Given the description of an element on the screen output the (x, y) to click on. 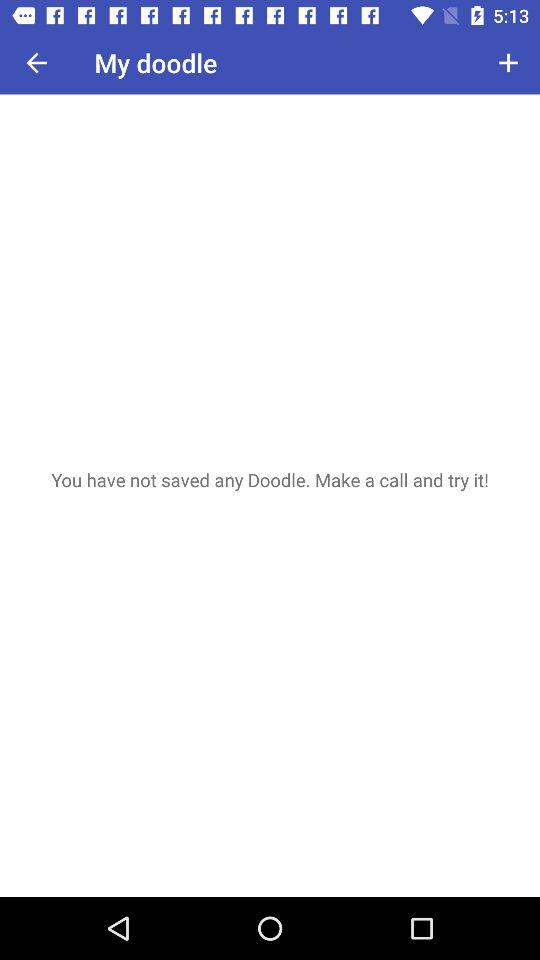
launch item to the left of the my doodle item (36, 62)
